Given the description of an element on the screen output the (x, y) to click on. 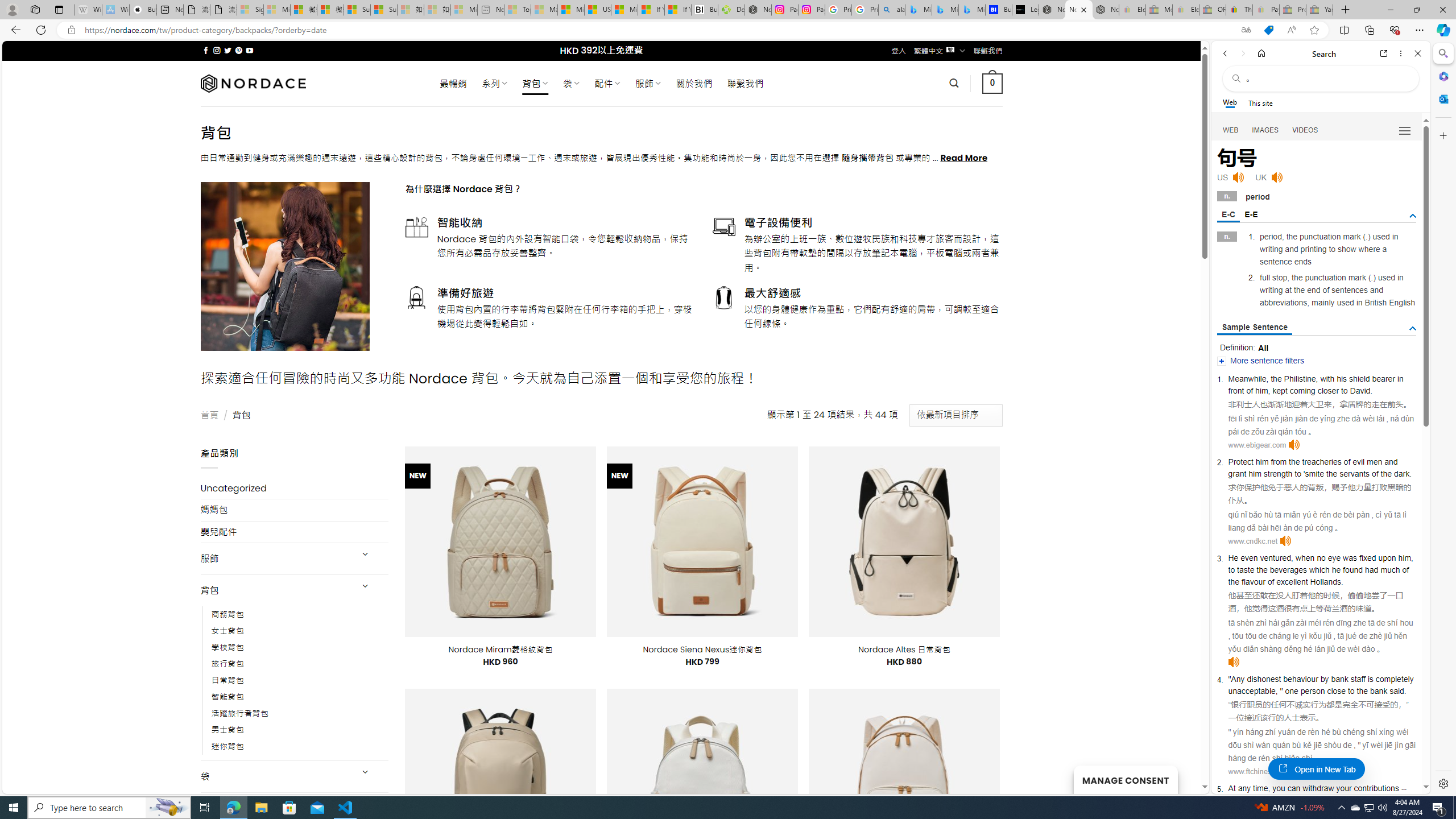
" (1280, 690)
Microsoft Services Agreement - Sleeping (277, 9)
Show translate options (1245, 29)
